Given the description of an element on the screen output the (x, y) to click on. 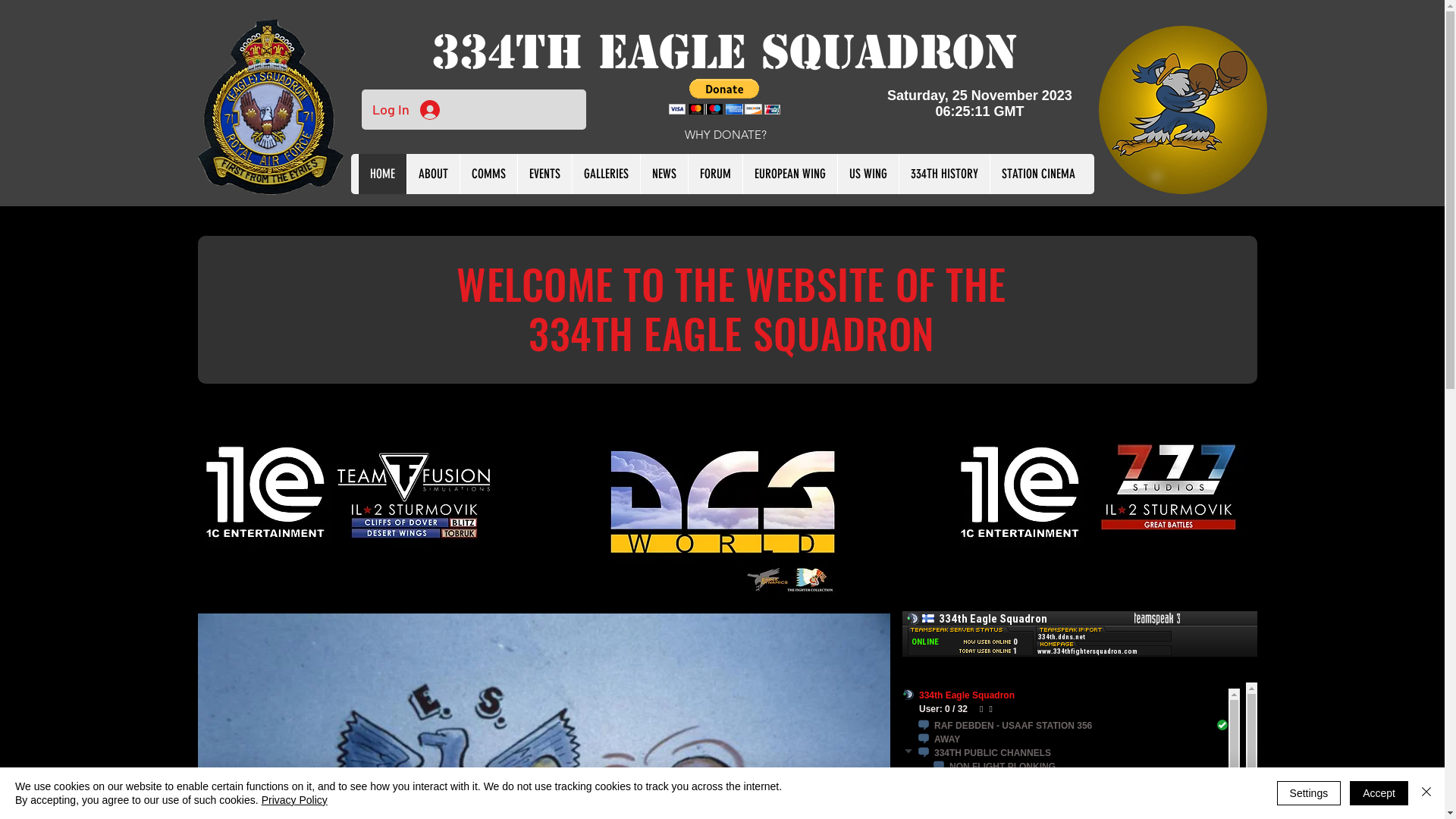
FORUM Element type: text (714, 173)
Log In Element type: text (404, 109)
Embedded Content Element type: hover (983, 109)
Settings Element type: text (1309, 793)
ABOUT Element type: text (432, 173)
NEWS Element type: text (663, 173)
COMMS Element type: text (488, 173)
WHY DONATE? Element type: text (725, 134)
Privacy Policy Element type: text (294, 799)
teamspeak banner Element type: hover (1076, 641)
Accept Element type: text (1378, 793)
HOME Element type: text (381, 173)
